Given the description of an element on the screen output the (x, y) to click on. 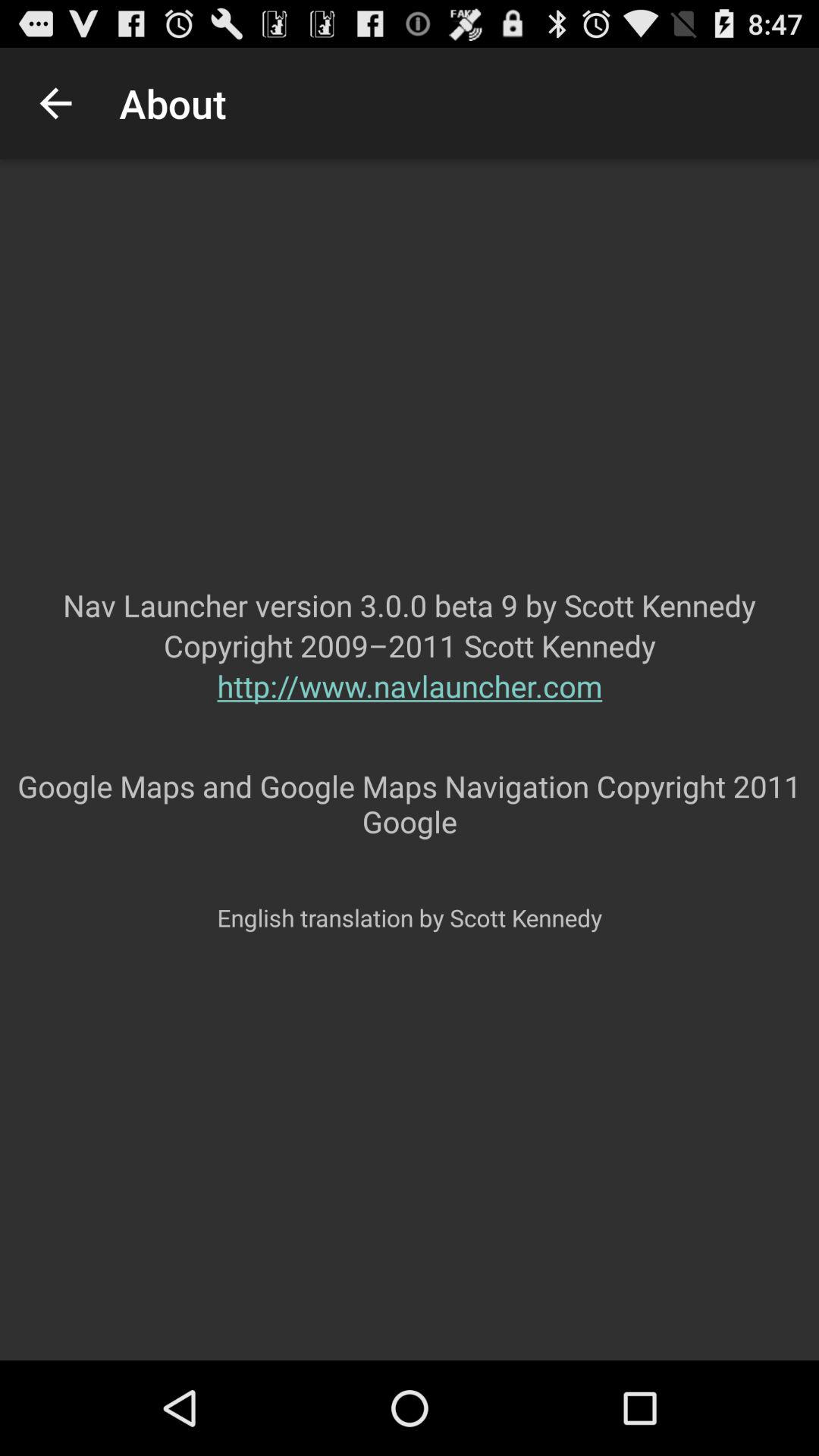
select the http www navlauncher app (409, 716)
